Given the description of an element on the screen output the (x, y) to click on. 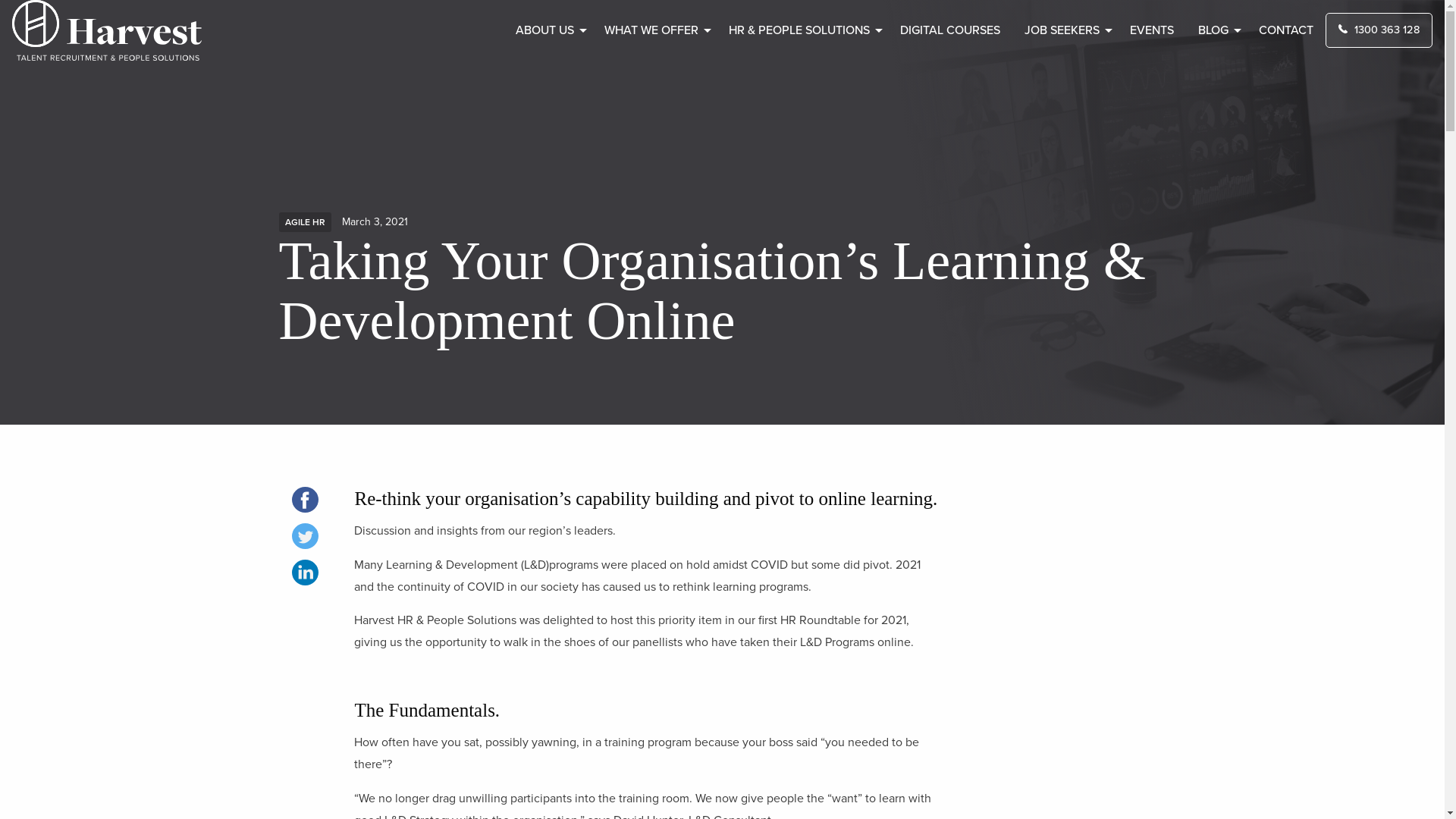
BLOG Element type: text (1216, 29)
ABOUT US Element type: text (547, 29)
DIGITAL COURSES Element type: text (950, 29)
EVENTS Element type: text (1151, 29)
JOB SEEKERS Element type: text (1064, 29)
WHAT WE OFFER Element type: text (654, 29)
HR & PEOPLE SOLUTIONS Element type: text (802, 29)
1300 363 128 Element type: text (1378, 29)
AGILE HR Element type: text (305, 222)
CONTACT Element type: text (1285, 29)
